Given the description of an element on the screen output the (x, y) to click on. 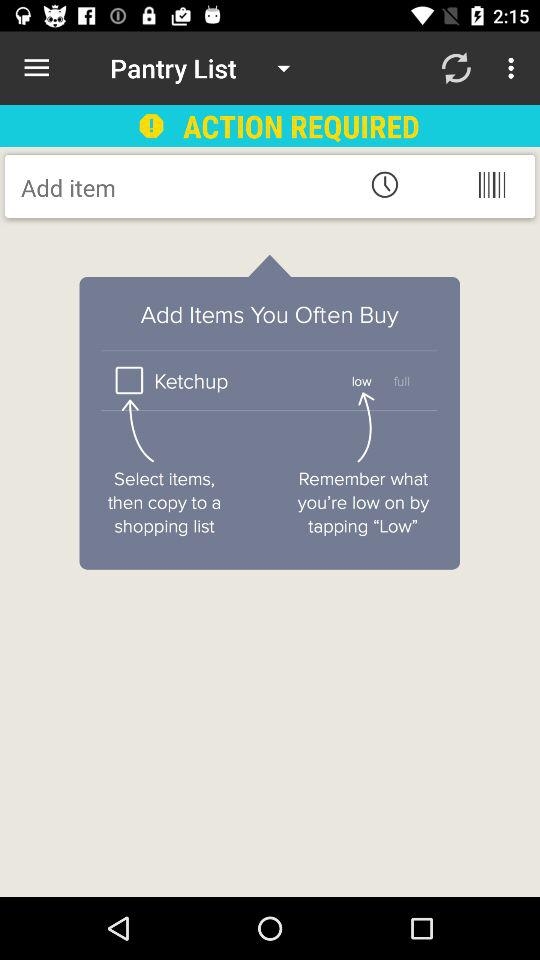
add item (181, 187)
